Given the description of an element on the screen output the (x, y) to click on. 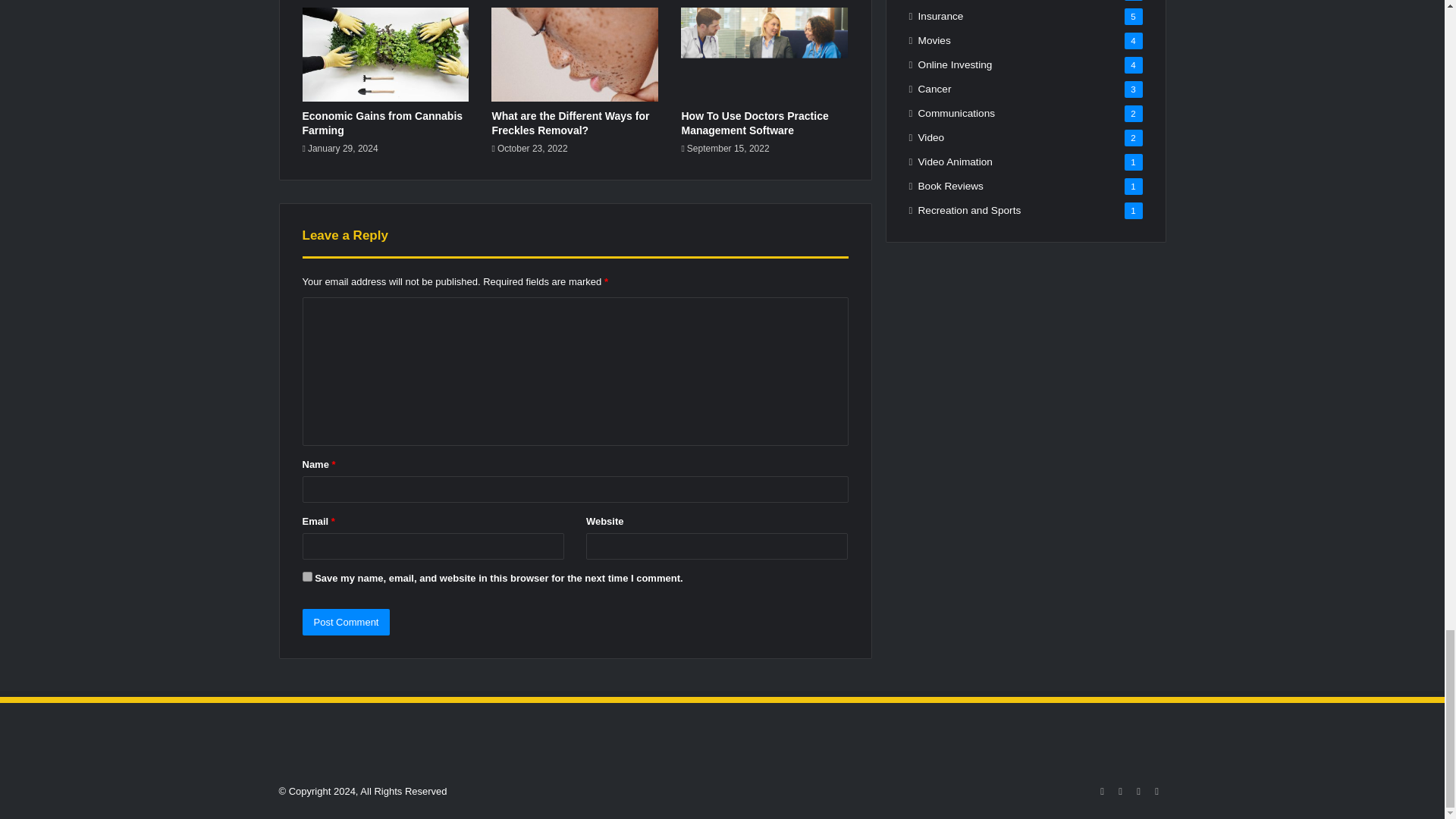
Economic Gains from Cannabis Farming (382, 122)
What are the Different Ways for Freckles Removal? (570, 122)
How To Use Doctors Practice Management Software (754, 122)
Post Comment (345, 622)
yes (306, 576)
Post Comment (345, 622)
